Given the description of an element on the screen output the (x, y) to click on. 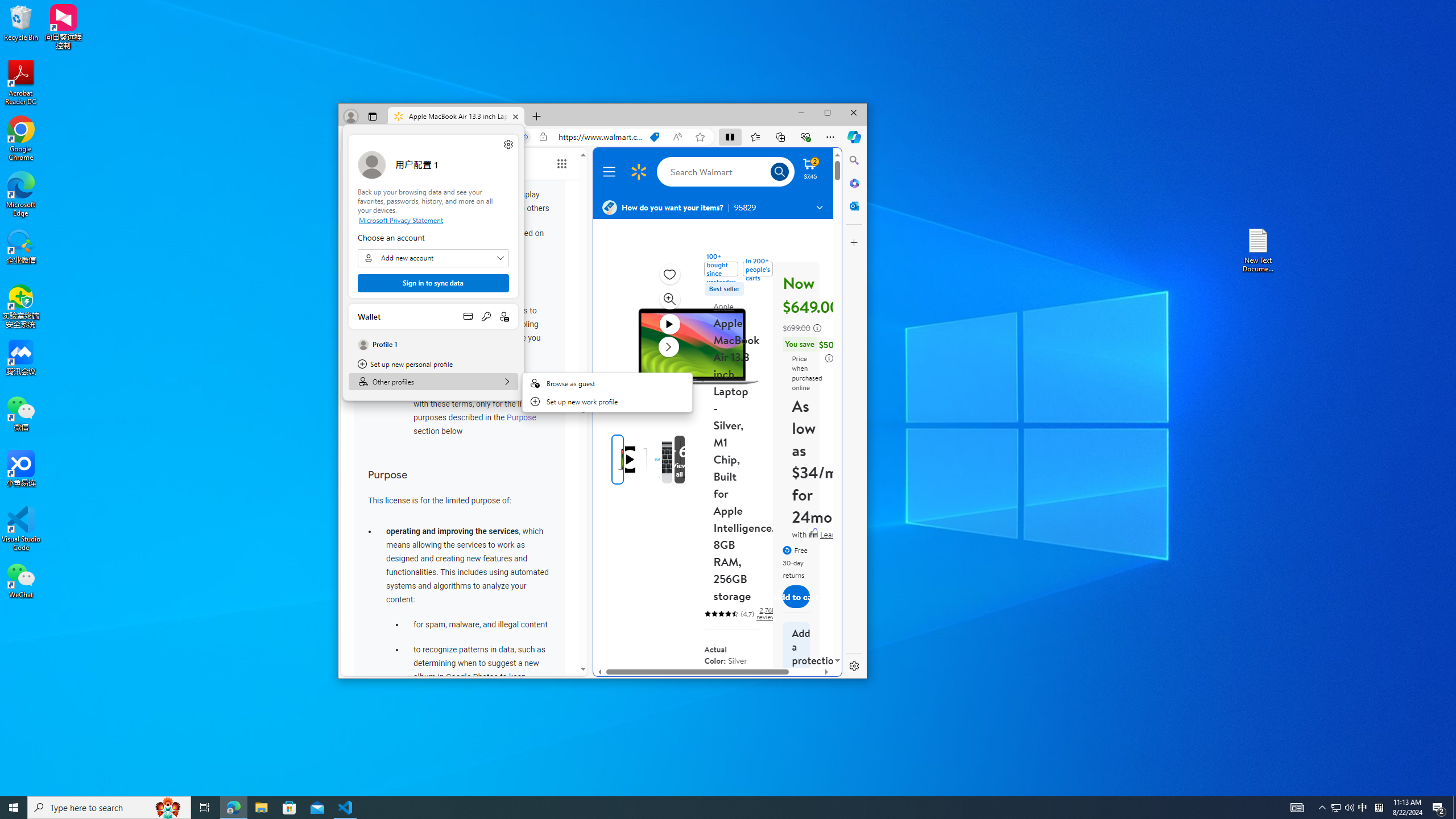
Tray Input Indicator - Chinese (Simplified, China) (1378, 807)
Class: absolute pointer (1362, 807)
Other profiles (629, 459)
Running applications (432, 381)
Menu (707, 807)
Search highlights icon opens search home window (611, 171)
This site has coupons! Shopping in Microsoft Edge, 7 (167, 807)
Set up new work profile (654, 136)
Context (606, 401)
